Given the description of an element on the screen output the (x, y) to click on. 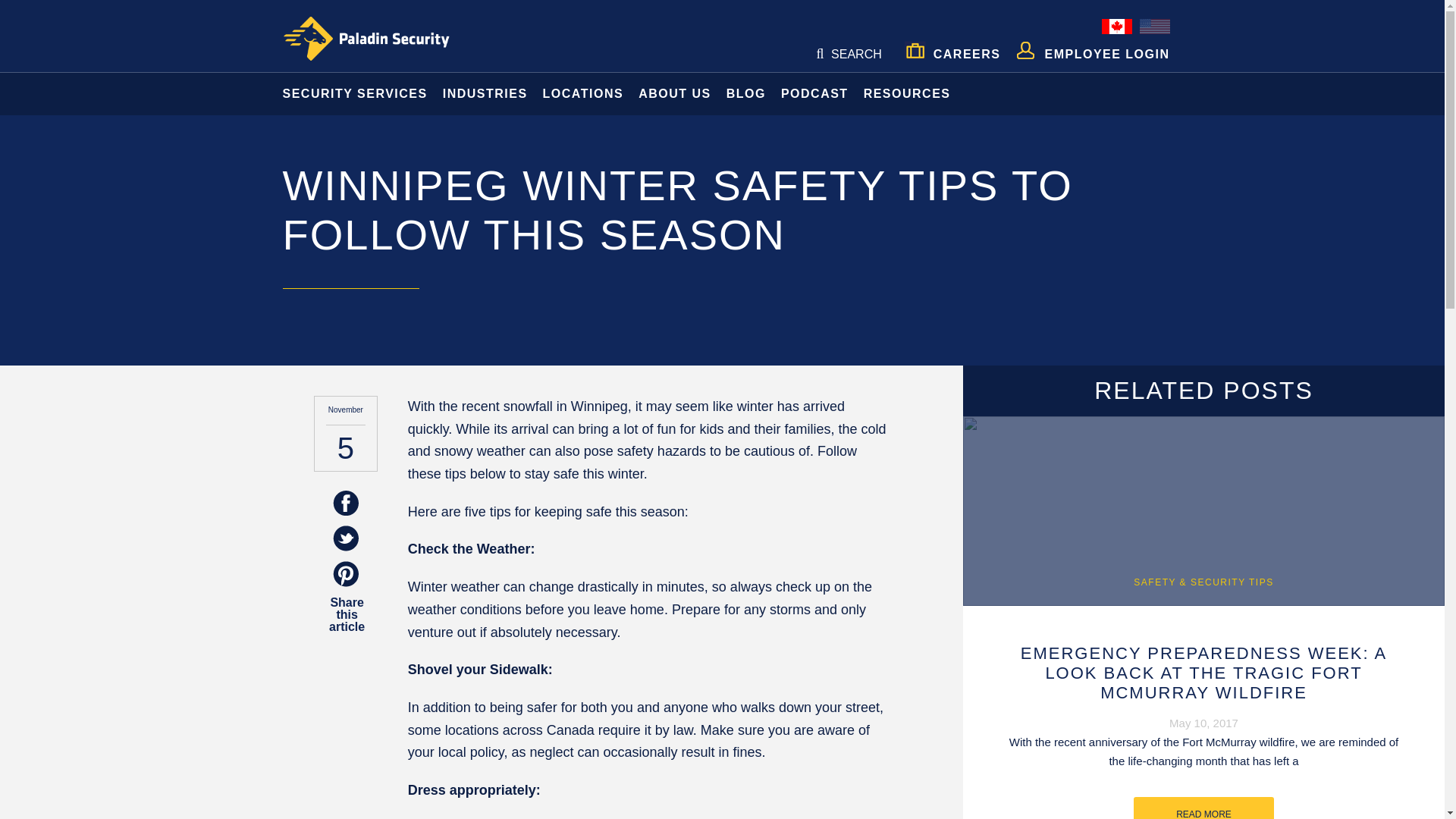
INDUSTRIES (485, 93)
SECURITY SERVICES (349, 93)
Paladin Security (365, 39)
Facebook (345, 503)
ABOUT US (674, 93)
CAREERS (952, 49)
Twitter (345, 539)
EMPLOYEE LOGIN (1091, 48)
Pinterest (345, 574)
